Given the description of an element on the screen output the (x, y) to click on. 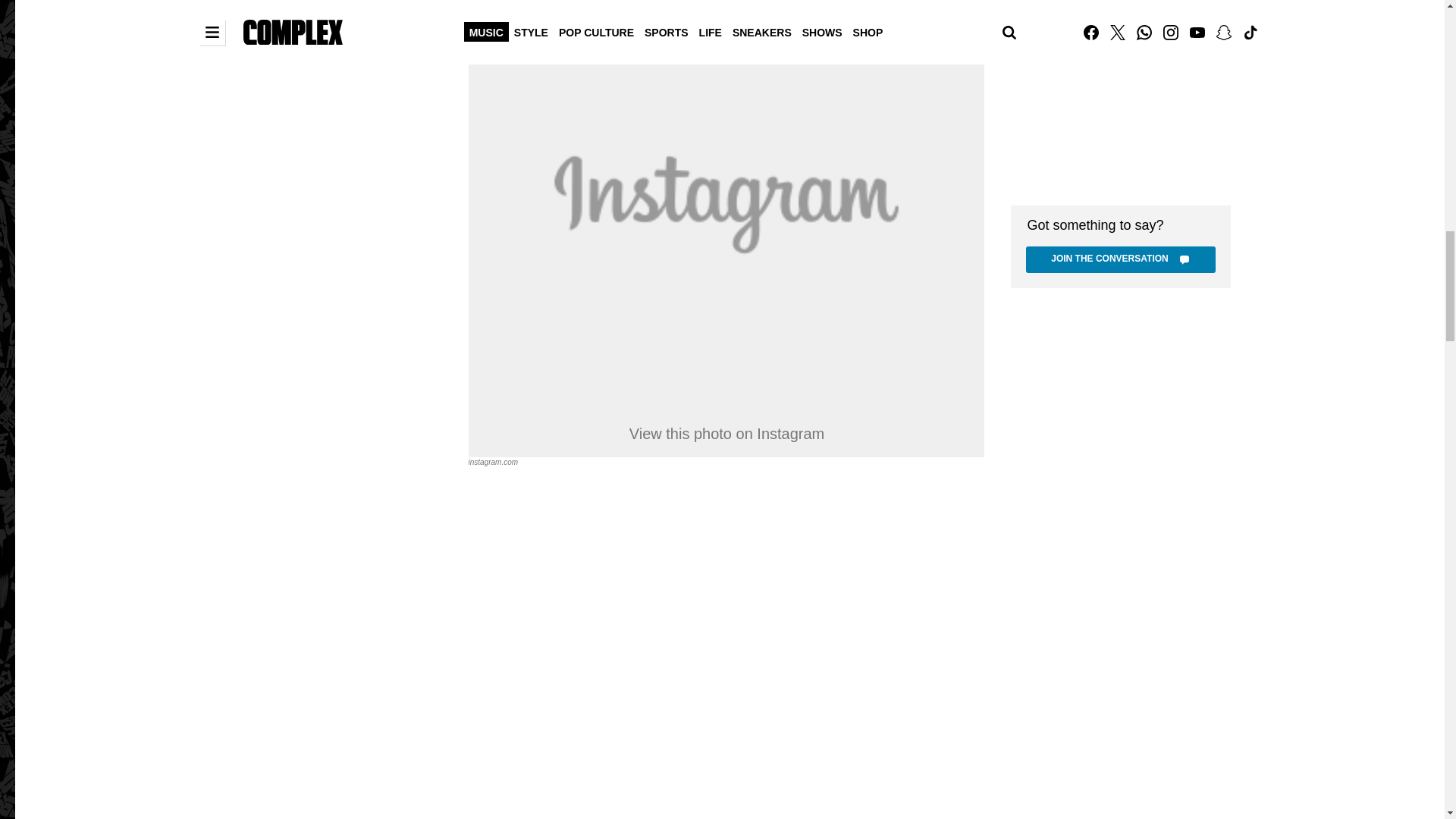
instagram.com - View on enhanced page (493, 461)
